Given the description of an element on the screen output the (x, y) to click on. 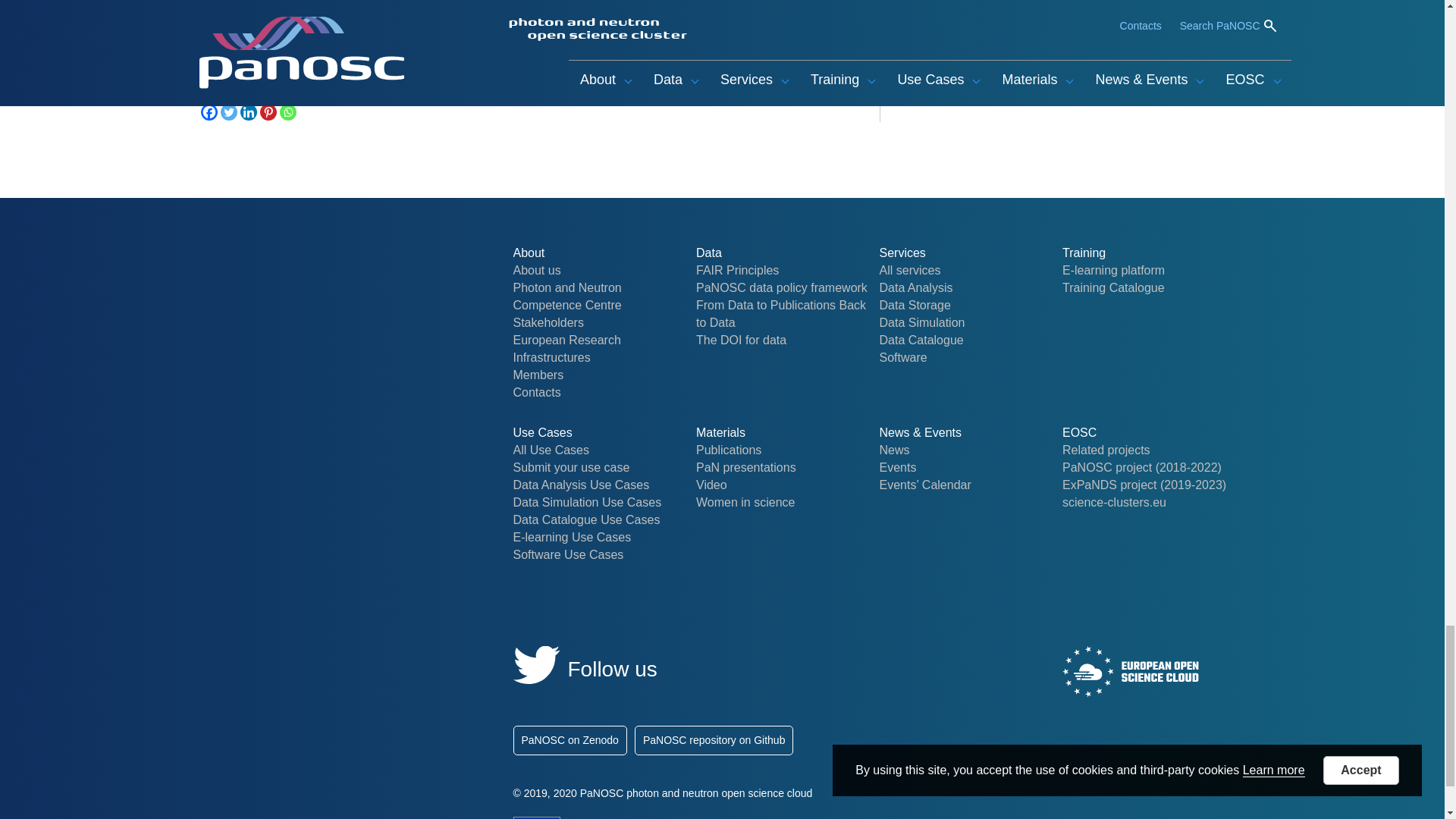
Whatsapp (287, 112)
Facebook (208, 112)
Linkedin (248, 112)
Pinterest (267, 112)
Twitter (227, 112)
